Given the description of an element on the screen output the (x, y) to click on. 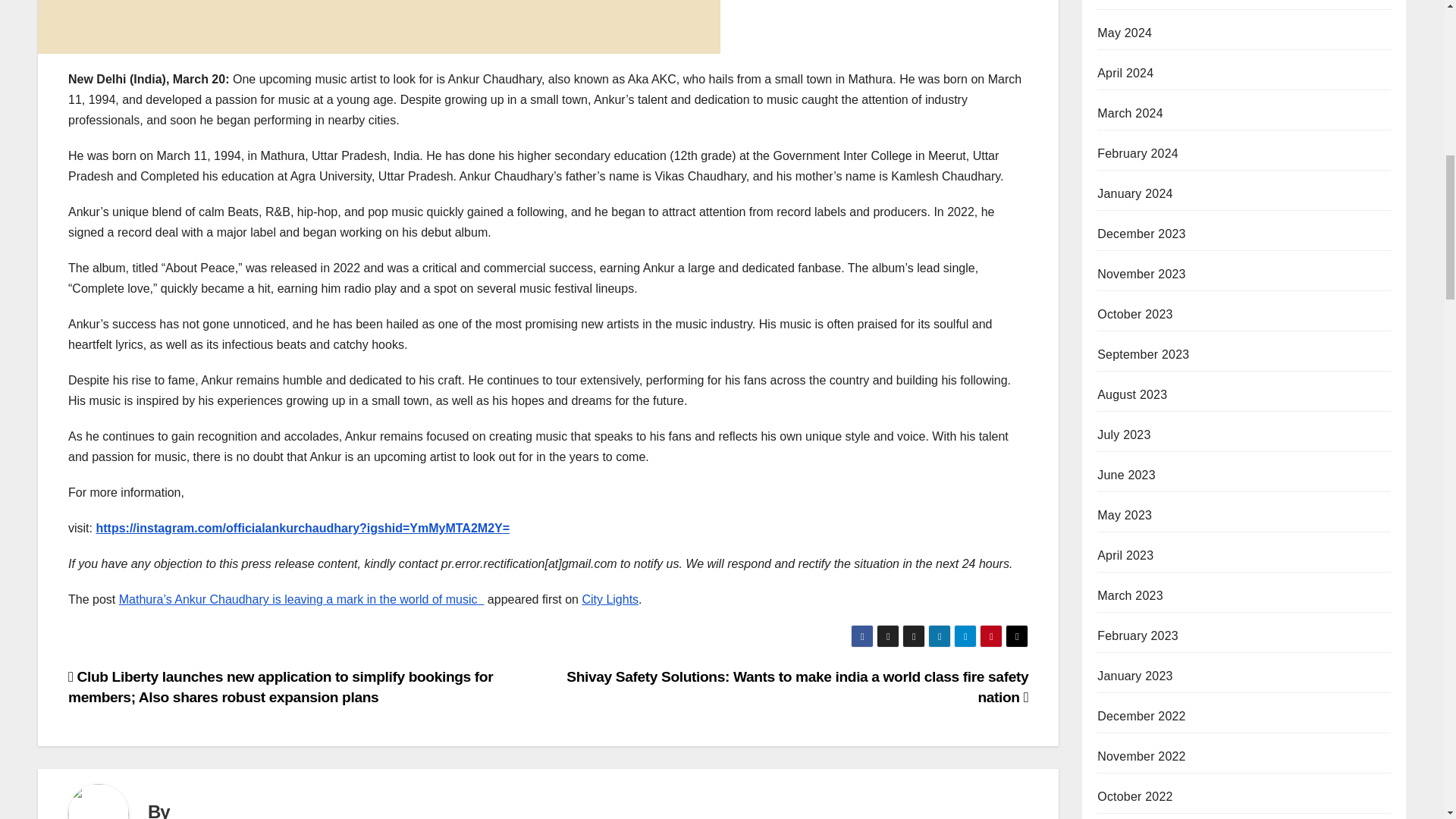
City Lights (609, 599)
